Given the description of an element on the screen output the (x, y) to click on. 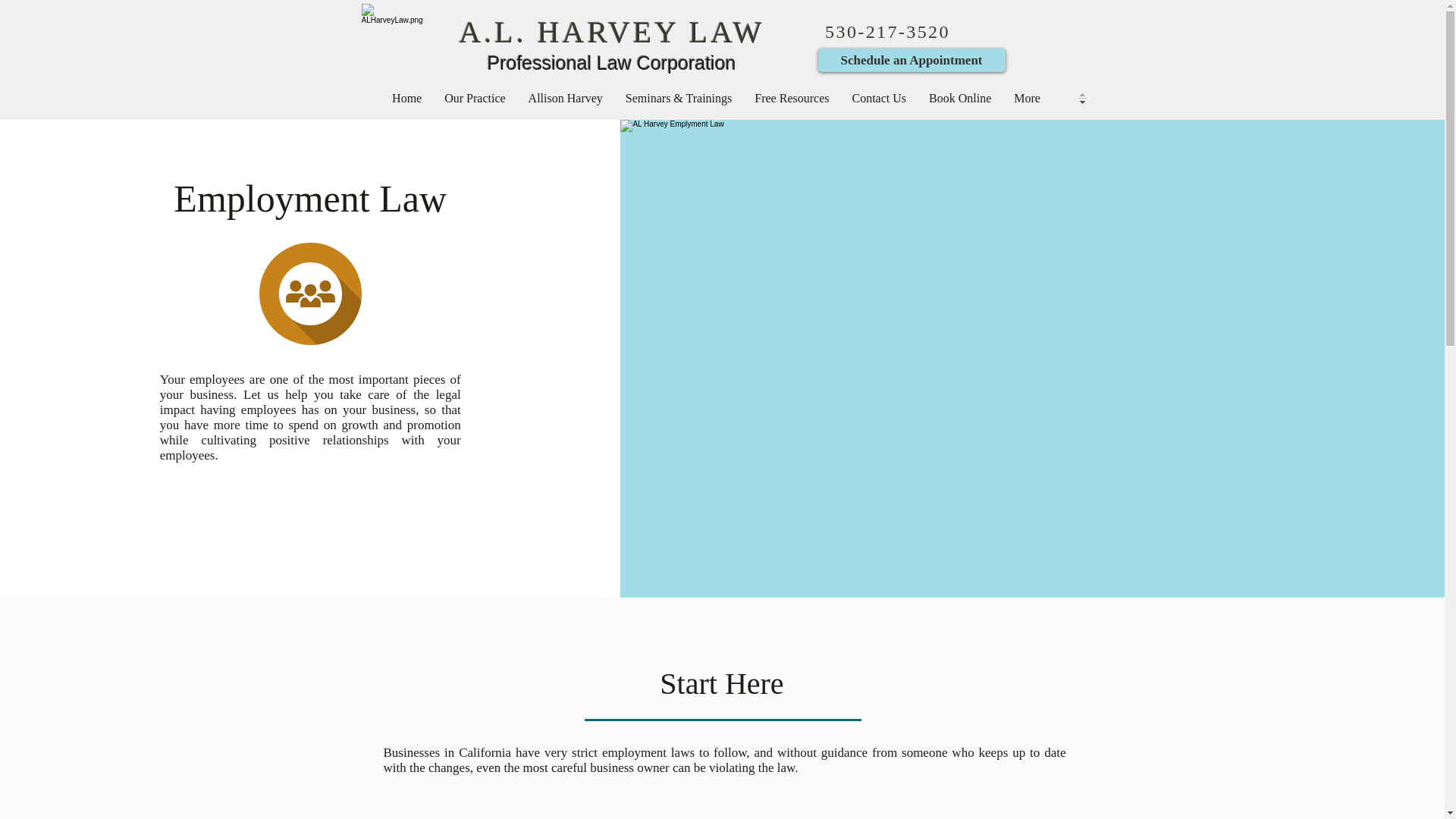
Schedule an Appointment (910, 60)
Home (406, 98)
530-217-3520 (887, 31)
Book Online (960, 98)
Allison Harvey (565, 98)
Contact Us (878, 98)
A.L. HARVEY LAW (611, 32)
